Given the description of an element on the screen output the (x, y) to click on. 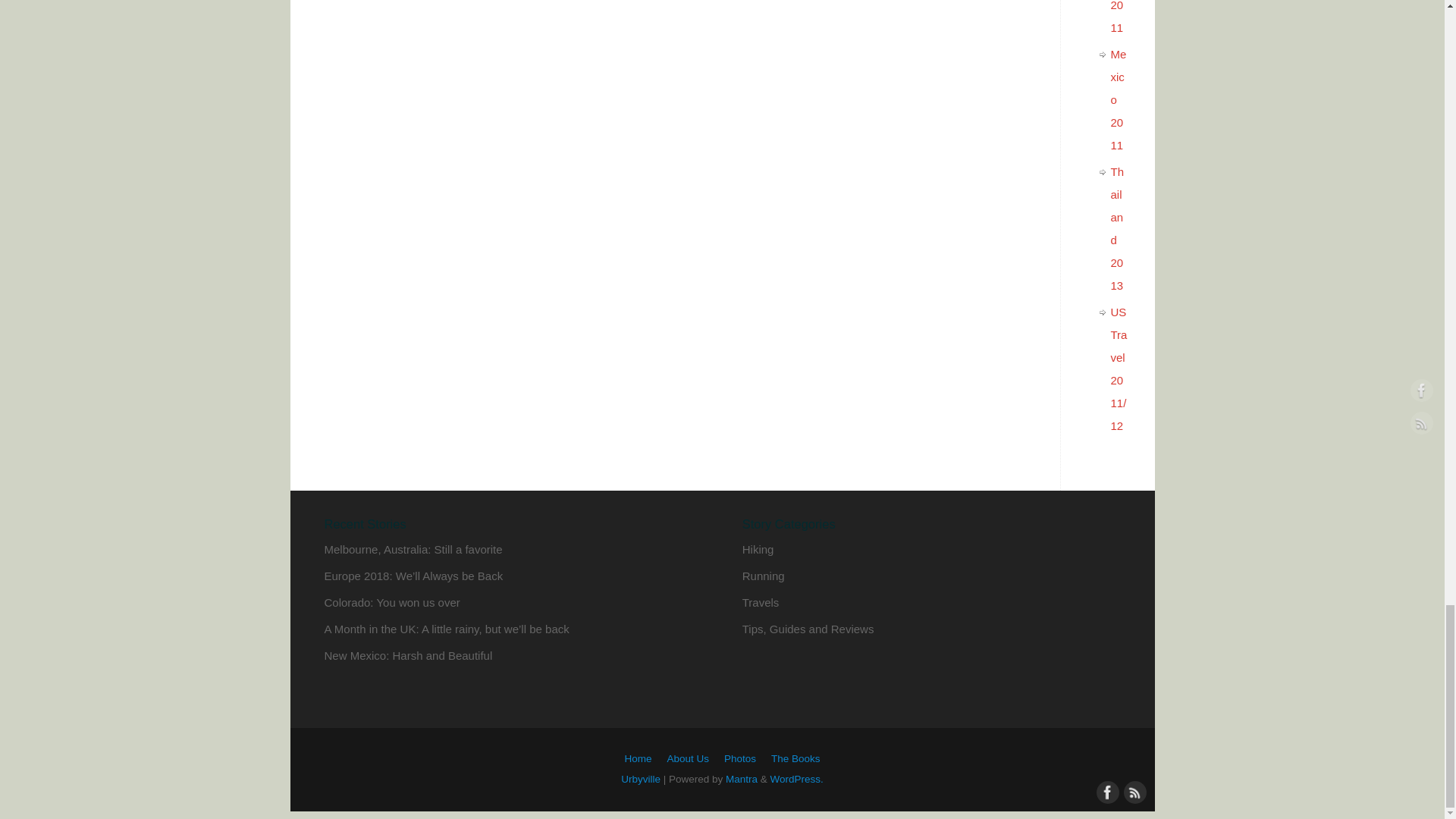
Facebook (1106, 790)
Mantra Theme by Cryout Creations (741, 778)
Semantic Personal Publishing Platform (797, 778)
RSS (1133, 790)
Urbyville (641, 778)
